Given the description of an element on the screen output the (x, y) to click on. 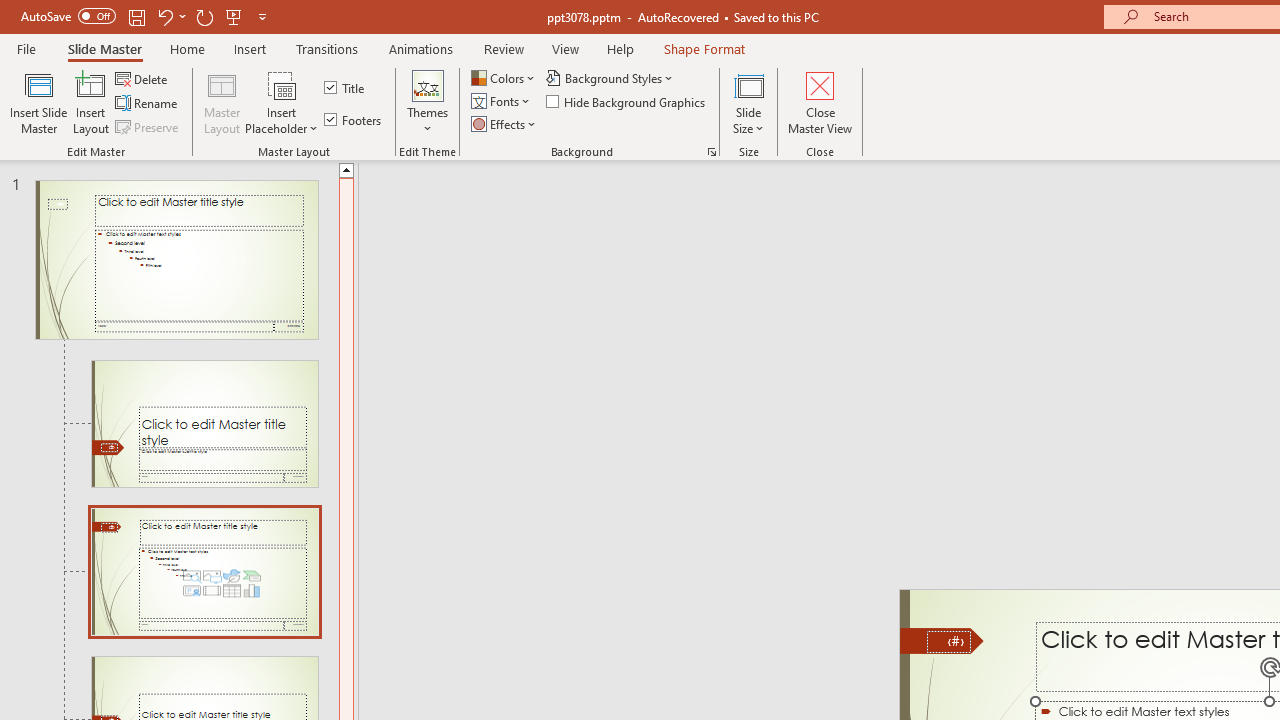
Slide Number (948, 641)
Slide Title Slide Layout: used by slide(s) 1 (204, 423)
Close Master View (820, 102)
Effects (505, 124)
Content (282, 84)
Master Layout... (221, 102)
Colors (504, 78)
Footers (354, 119)
